Given the description of an element on the screen output the (x, y) to click on. 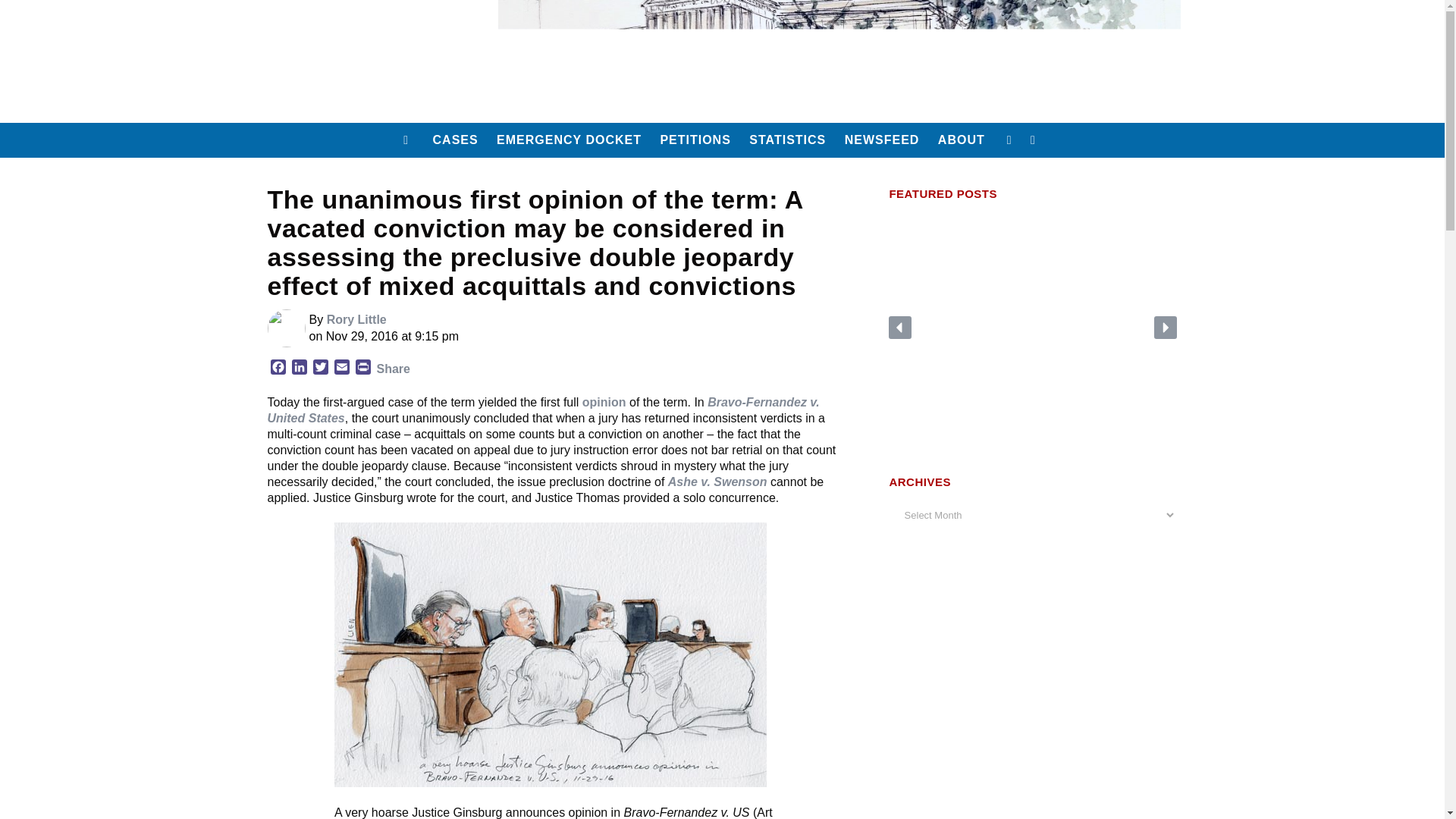
STATISTICS (786, 140)
EMERGENCY DOCKET (569, 140)
Twitter (319, 368)
Email (341, 368)
Facebook (277, 368)
ABOUT (961, 140)
NEWSFEED (882, 140)
CASES (455, 140)
LinkedIn (298, 368)
PETITIONS (695, 140)
